Given the description of an element on the screen output the (x, y) to click on. 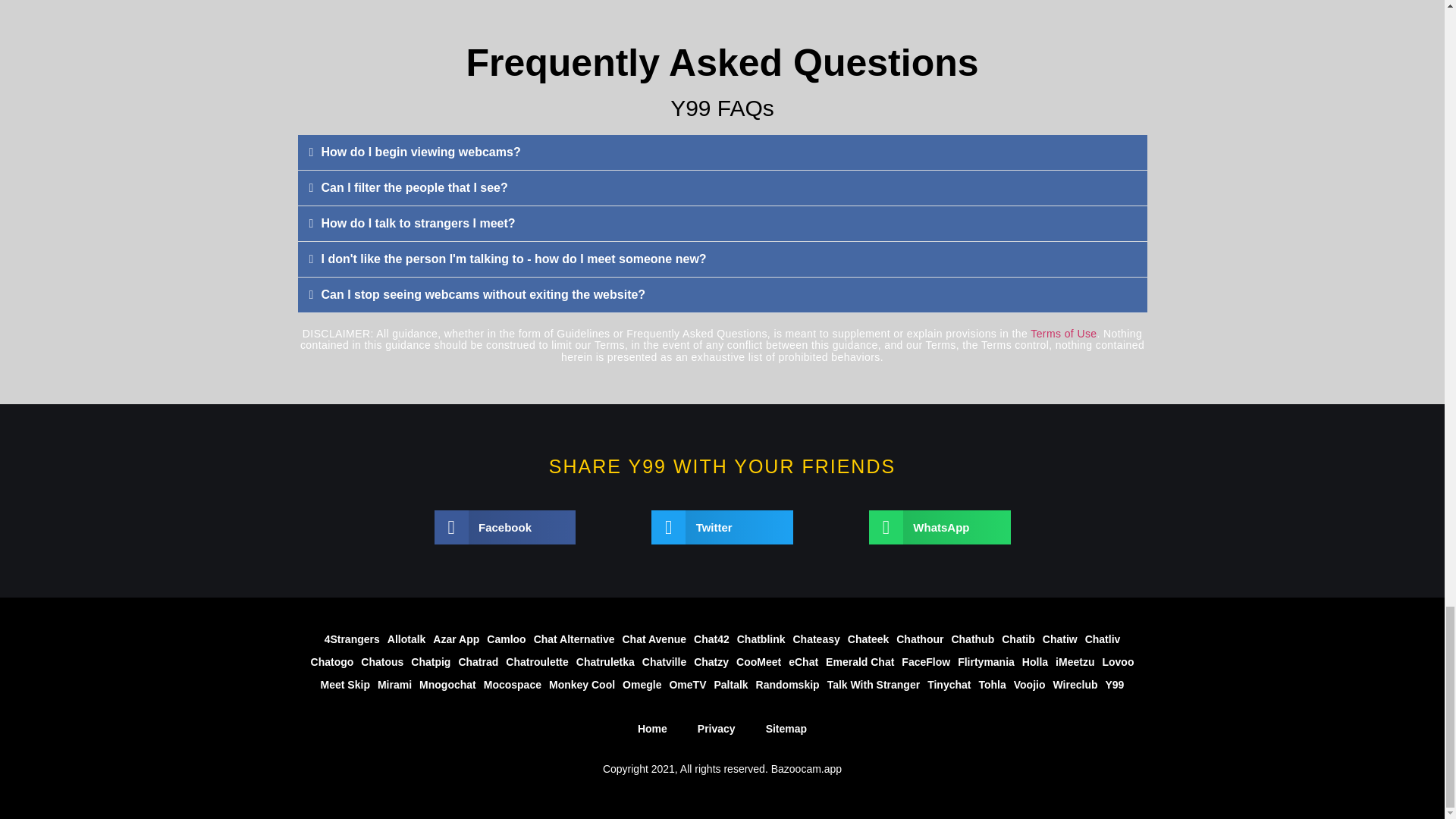
Chatogo (332, 661)
Allotalk (406, 639)
Chatous (381, 661)
Chatib (1018, 639)
How do I begin viewing webcams? (421, 151)
Chateek (868, 639)
Chatblink (761, 639)
Chatliv (1102, 639)
4Strangers (352, 639)
Can I filter the people that I see? (414, 187)
How do I talk to strangers I meet? (418, 223)
Chathub (972, 639)
Camloo (506, 639)
Azar App (456, 639)
Can I stop seeing webcams without exiting the website? (483, 294)
